Given the description of an element on the screen output the (x, y) to click on. 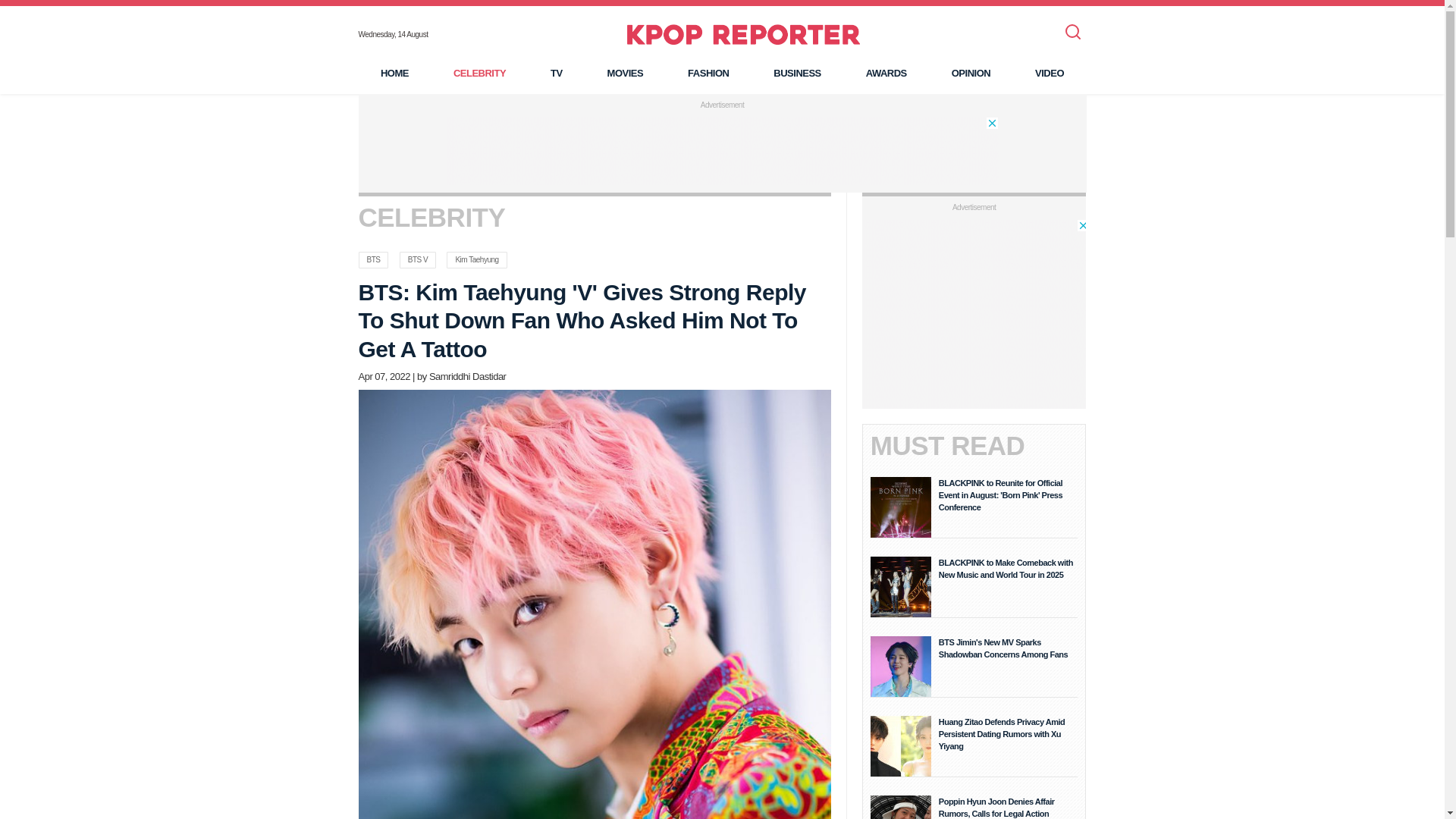
CELEBRITY (478, 72)
KPOP REPORTER (743, 34)
BTS V (416, 259)
Kim Taehyung (476, 259)
BTS (373, 259)
VIDEO (1049, 72)
3rd party ad content (721, 151)
OPINION (971, 72)
BUSINESS (797, 72)
MOVIES (625, 72)
